Given the description of an element on the screen output the (x, y) to click on. 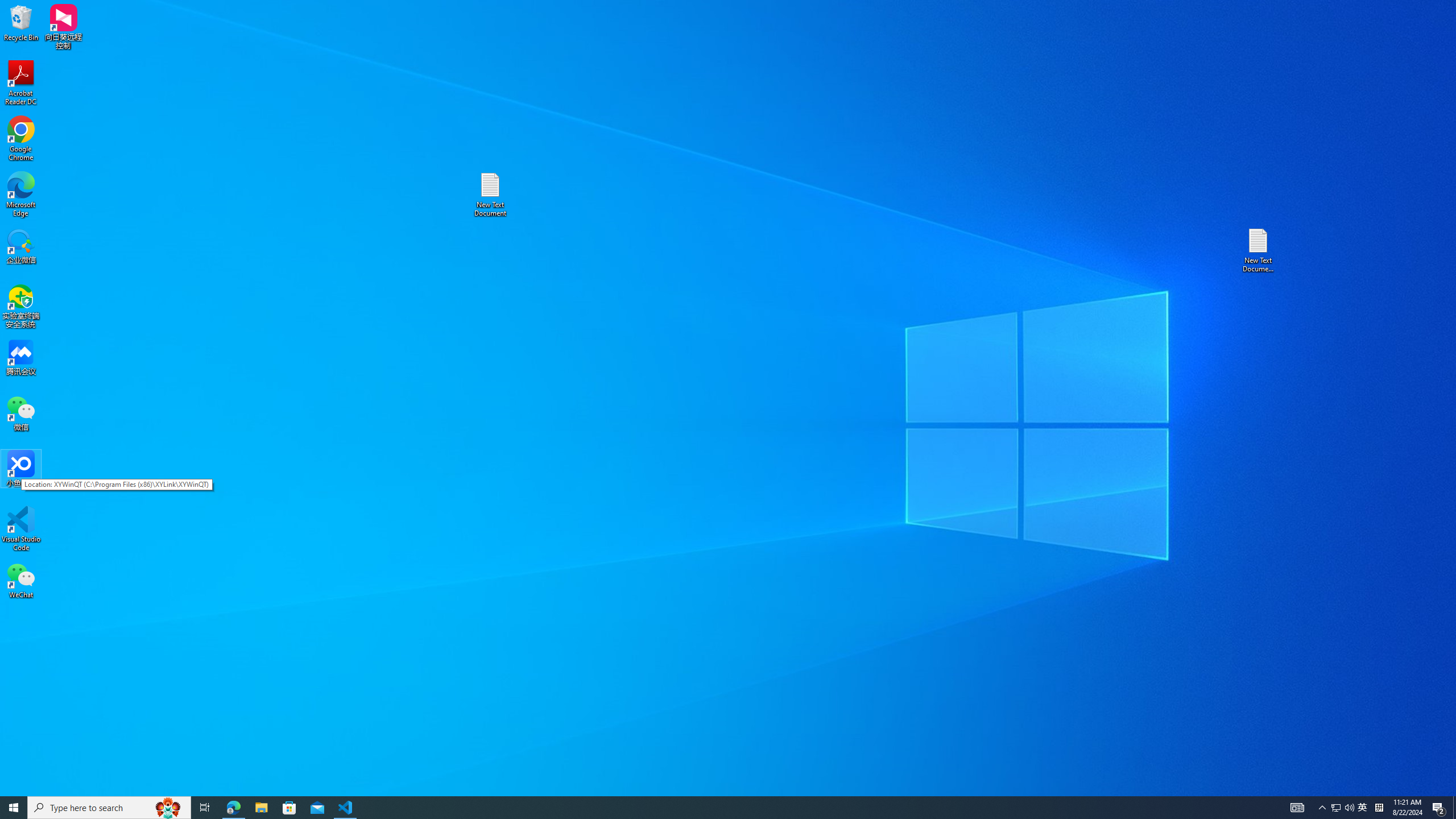
Microsoft Edge (21, 194)
File Explorer (261, 807)
Microsoft Store (289, 807)
Microsoft Edge - 1 running window (233, 807)
Google Chrome (21, 138)
Recycle Bin (21, 22)
Tray Input Indicator - Chinese (Simplified, China) (1378, 807)
Action Center, 2 new notifications (1439, 807)
Search highlights icon opens search home window (167, 807)
WeChat (21, 580)
